Given the description of an element on the screen output the (x, y) to click on. 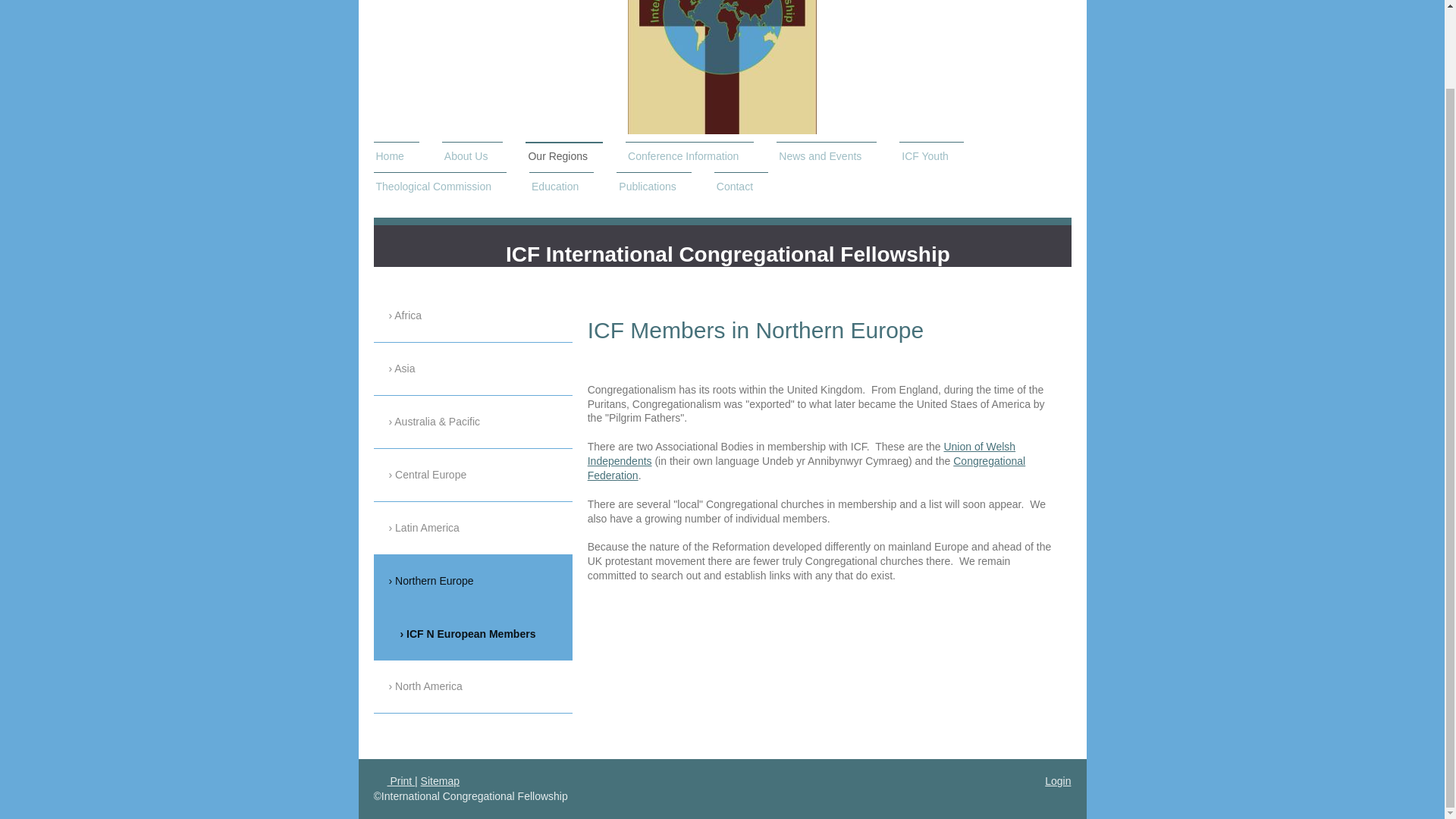
ICF Youth (931, 156)
Our Regions (563, 156)
Theological Commission (439, 186)
ICF International Congregational Fellowship (727, 253)
Conference Information (690, 156)
Publications (653, 186)
Home (395, 156)
News and Events (826, 156)
Education (561, 186)
About Us (472, 156)
